Given the description of an element on the screen output the (x, y) to click on. 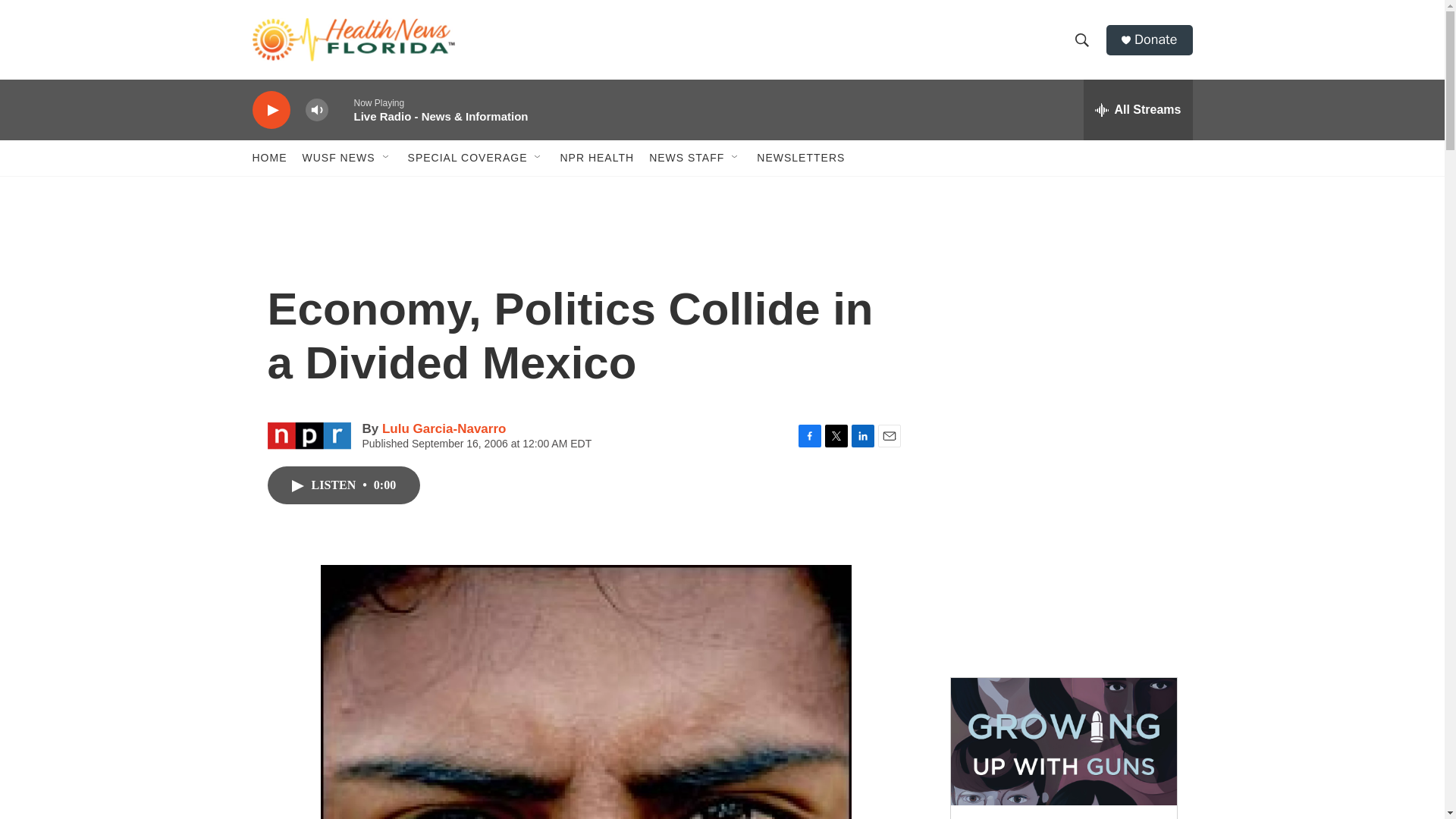
3rd party ad content (1062, 552)
3rd party ad content (1062, 331)
